Given the description of an element on the screen output the (x, y) to click on. 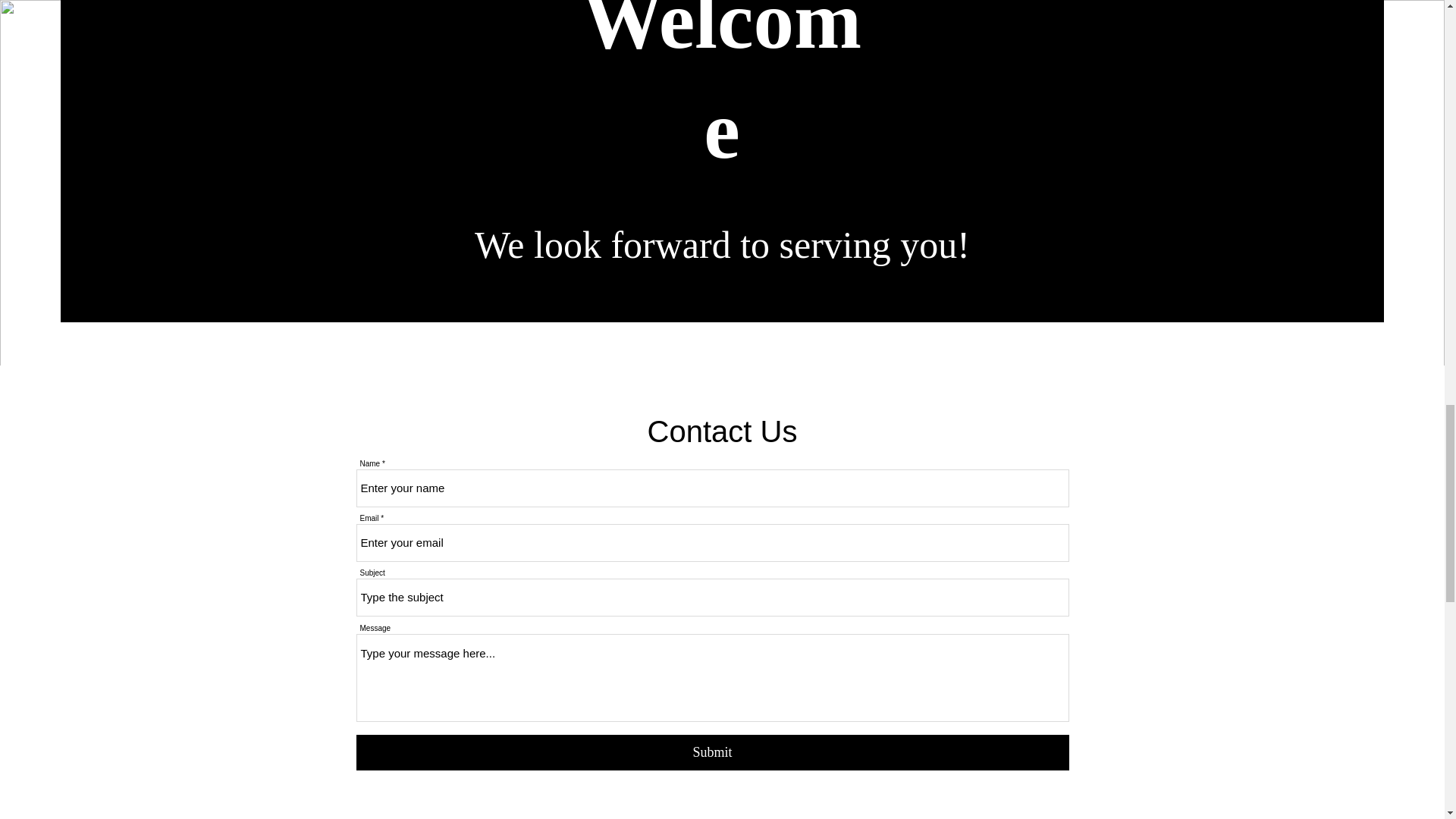
Submit (712, 752)
